Given the description of an element on the screen output the (x, y) to click on. 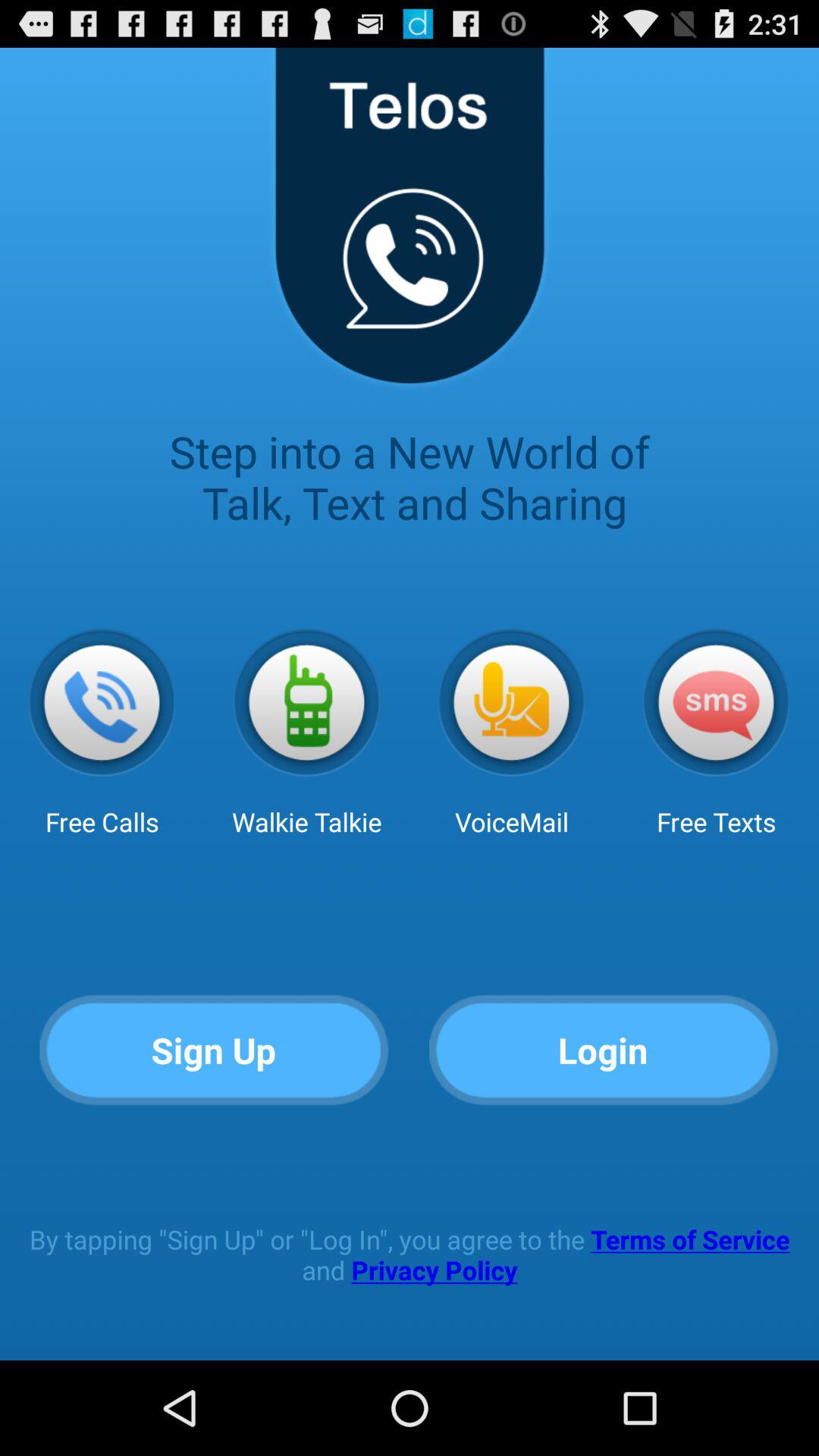
choose icon at the bottom (409, 1254)
